Given the description of an element on the screen output the (x, y) to click on. 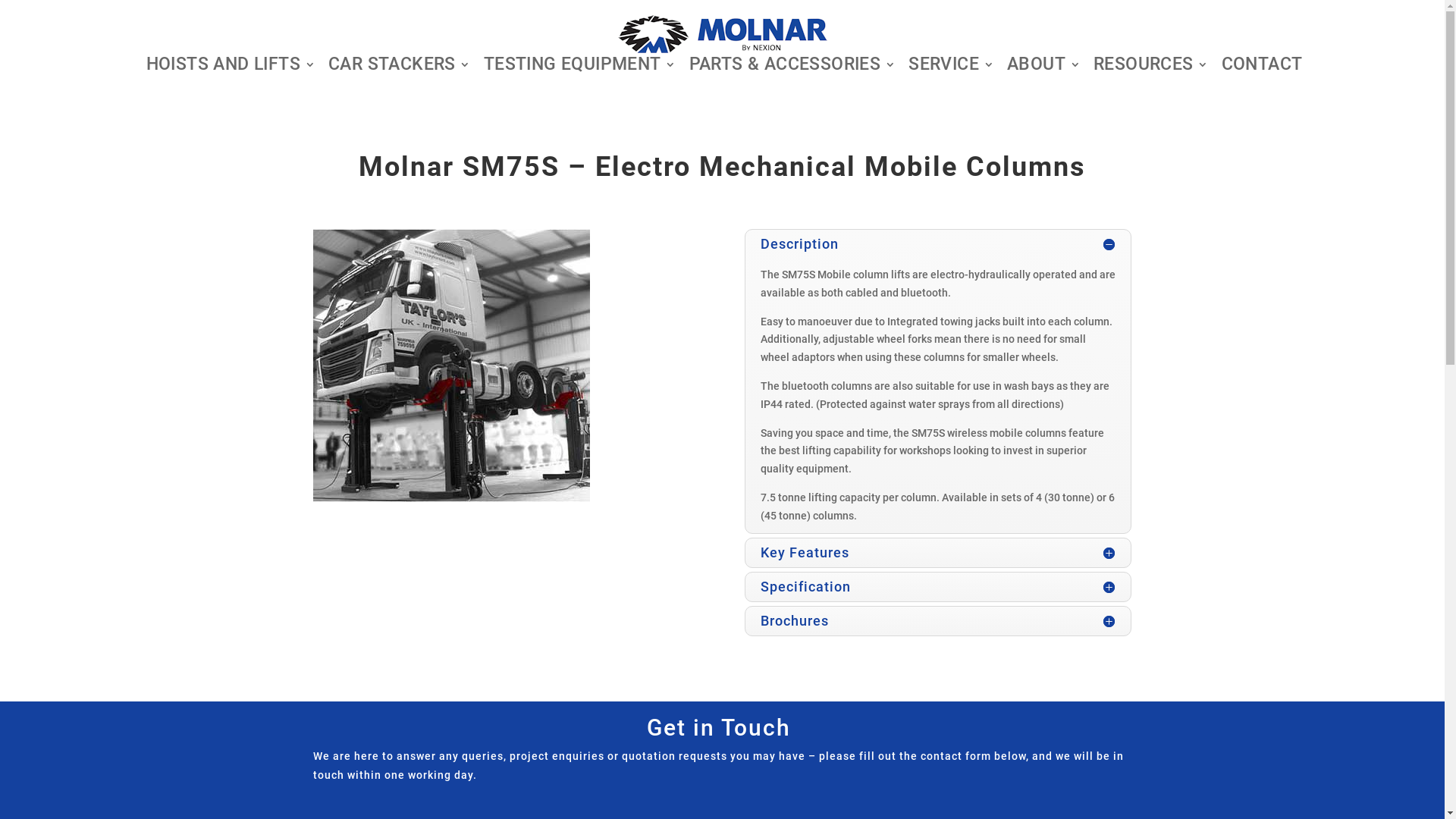
CONTACT Element type: text (1261, 67)
RESOURCES Element type: text (1150, 67)
TESTING EQUIPMENT Element type: text (579, 67)
CAR STACKERS Element type: text (399, 67)
SERVICE Element type: text (951, 67)
ABOUT Element type: text (1043, 67)
HOISTS AND LIFTS Element type: text (230, 67)
PARTS & ACCESSORIES Element type: text (792, 67)
